Given the description of an element on the screen output the (x, y) to click on. 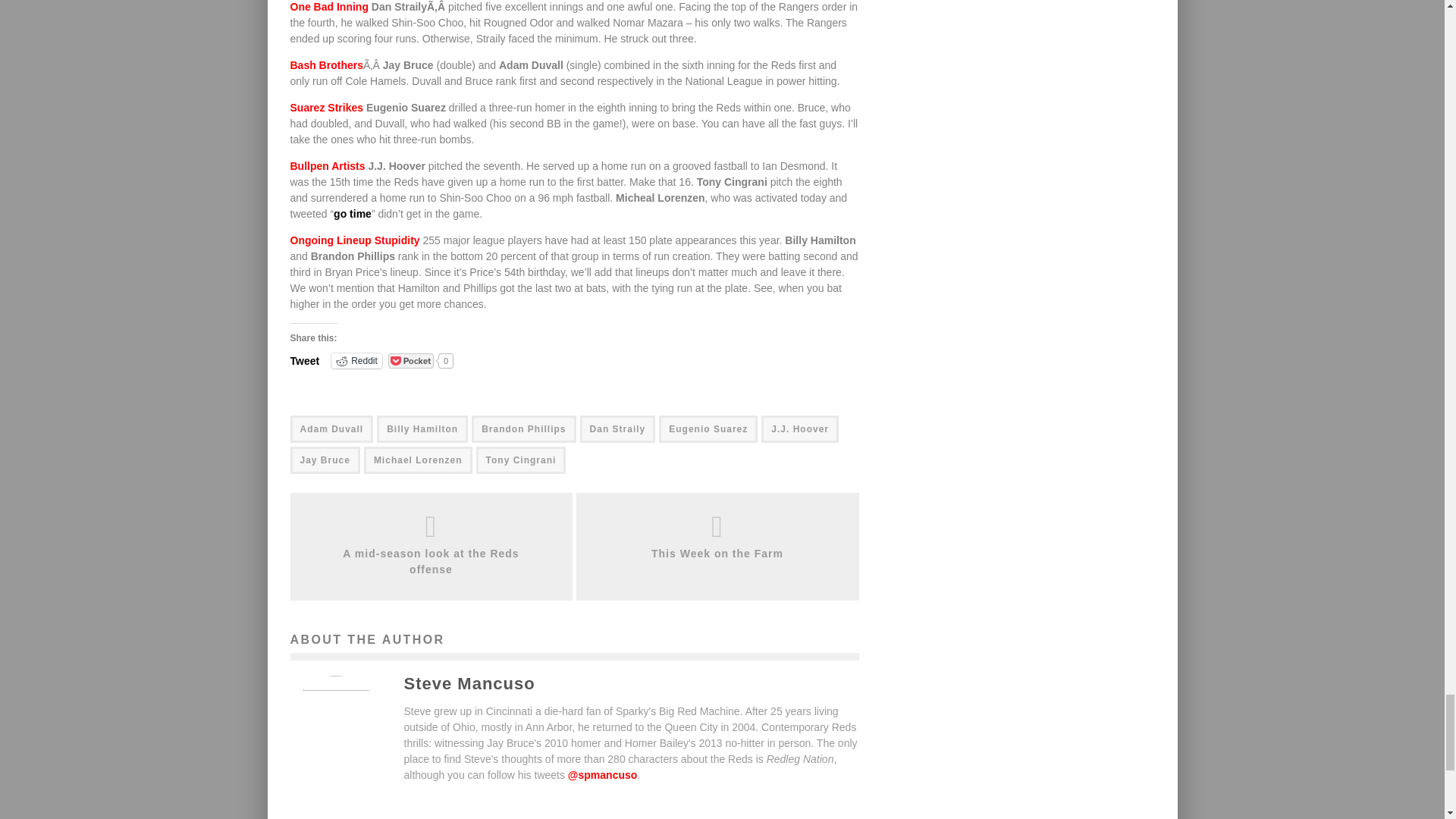
go time (352, 214)
Tweet (303, 359)
Click to share on Reddit (356, 360)
Reddit (356, 360)
Adam Duvall (330, 429)
